Given the description of an element on the screen output the (x, y) to click on. 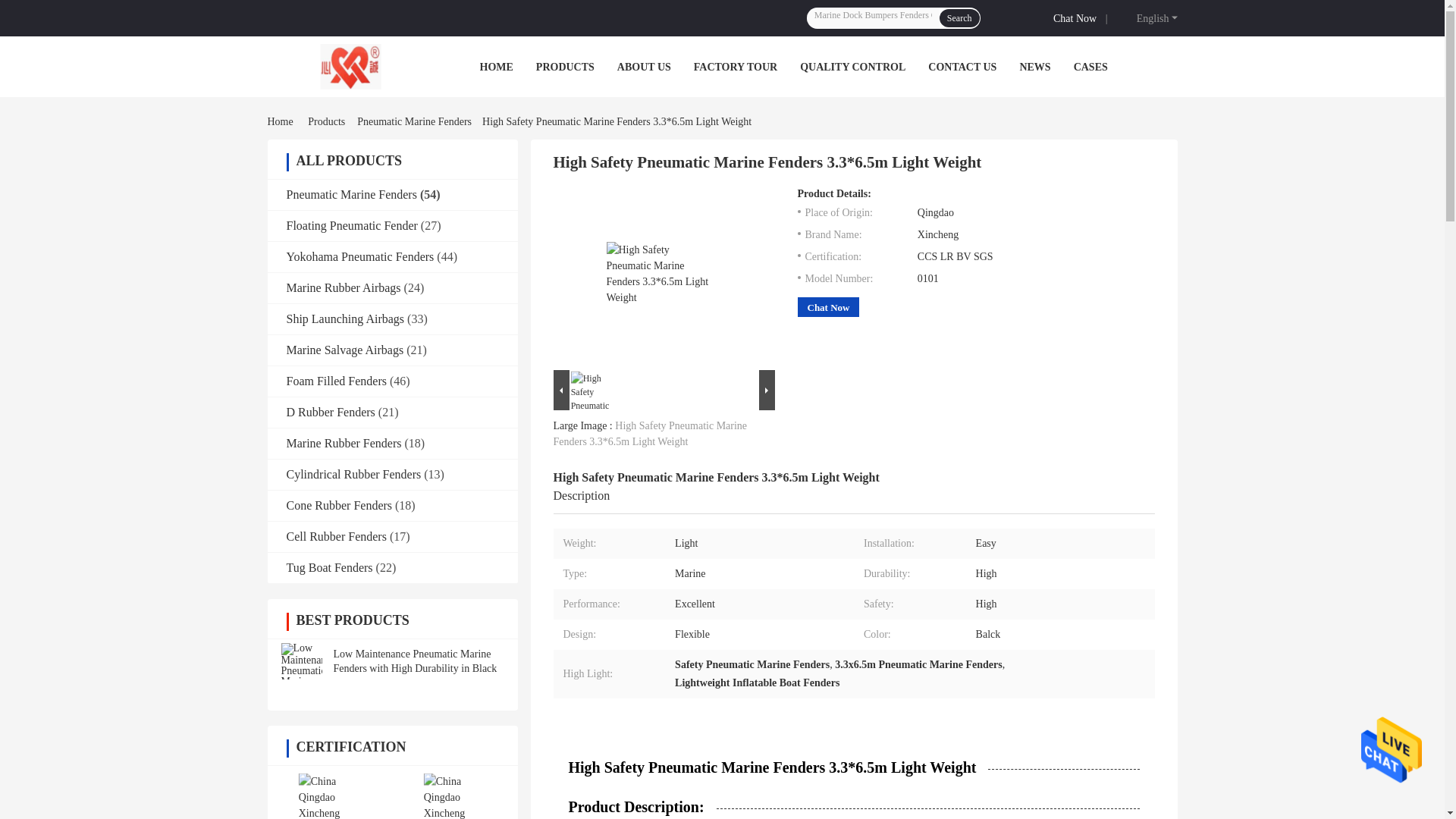
PRODUCTS (564, 66)
Products (325, 121)
ABOUT US (644, 66)
Chat Now (1077, 17)
CASES (1091, 66)
HOME (495, 66)
QUALITY CONTROL (852, 66)
Search (959, 18)
CONTACT US (961, 66)
Marine Rubber Airbags (343, 287)
Home (282, 121)
Pneumatic Marine Fenders (351, 194)
NEWS (1034, 66)
FACTORY TOUR (735, 66)
Floating Pneumatic Fender (351, 225)
